Given the description of an element on the screen output the (x, y) to click on. 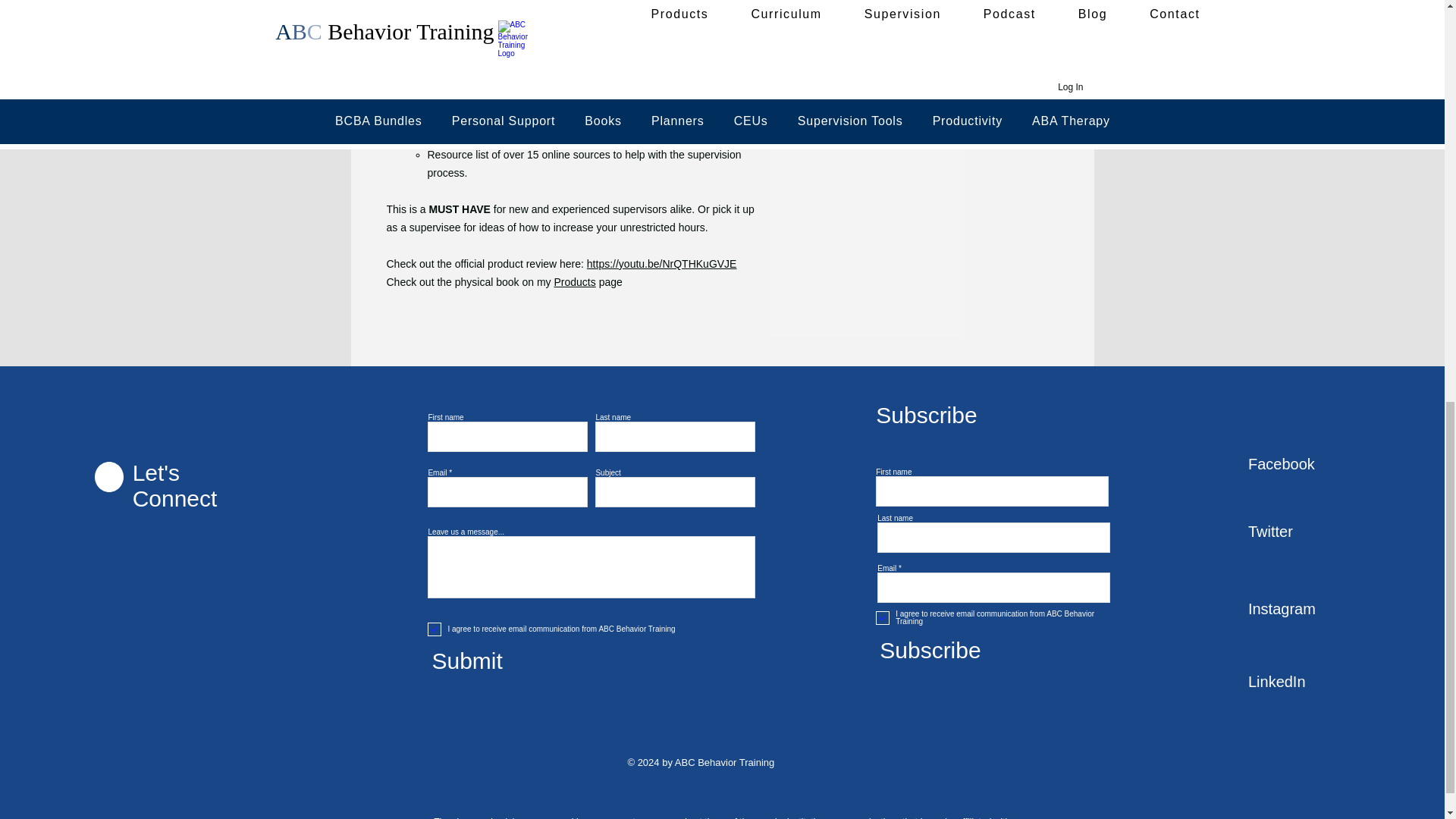
Subscribe (985, 650)
Twitter (1301, 531)
Submit (537, 661)
Instagram (1301, 609)
Facebook (1301, 464)
LinkedIn (1301, 682)
Products (574, 282)
